Given the description of an element on the screen output the (x, y) to click on. 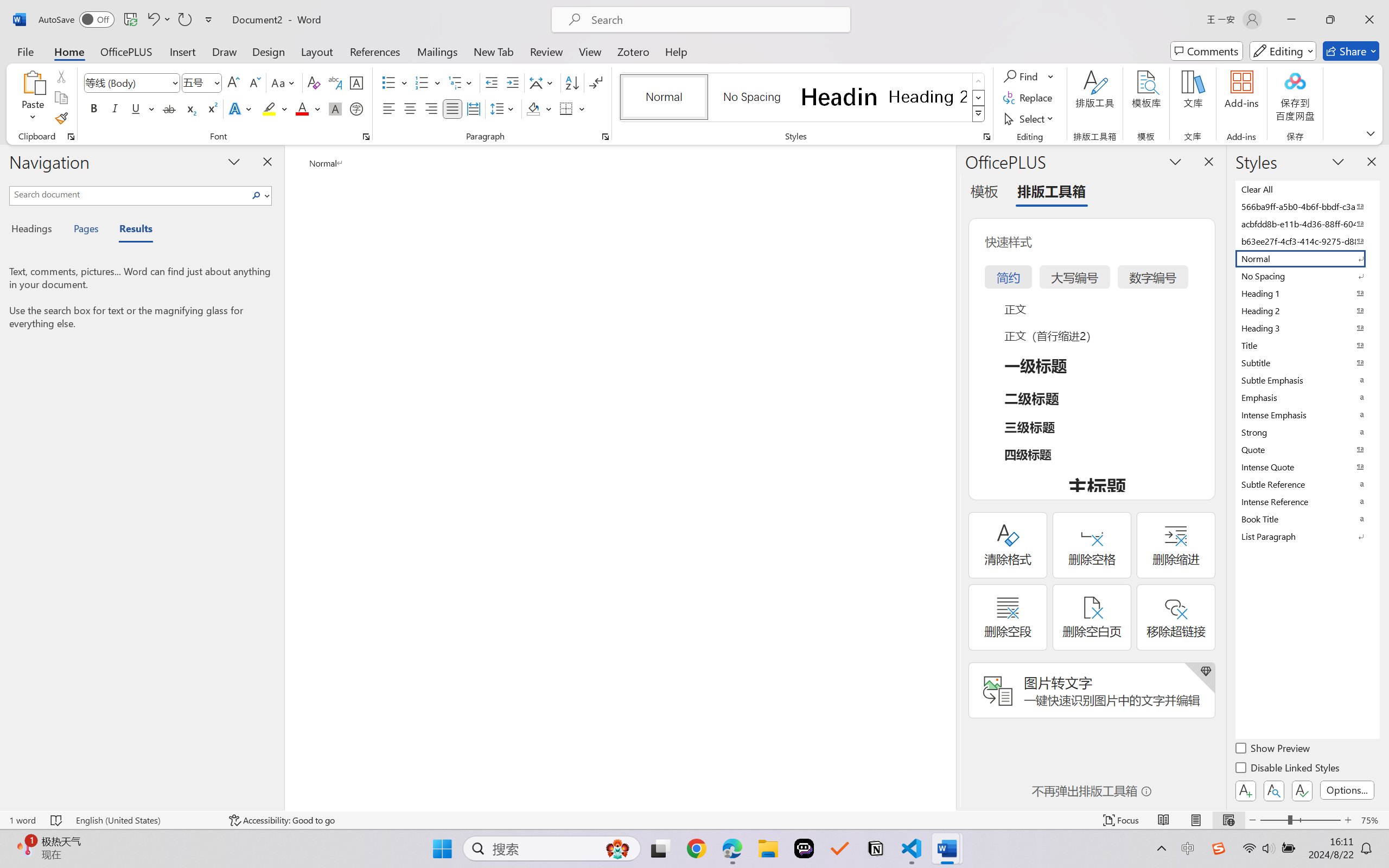
Ribbon Display Options (1370, 132)
Open (215, 82)
Pages (85, 229)
AutomationID: BadgeAnchorLargeTicker (24, 847)
Phonetic Guide... (334, 82)
Replace... (1029, 97)
Comments (1206, 50)
Book Title (1306, 518)
Cut (60, 75)
